Given the description of an element on the screen output the (x, y) to click on. 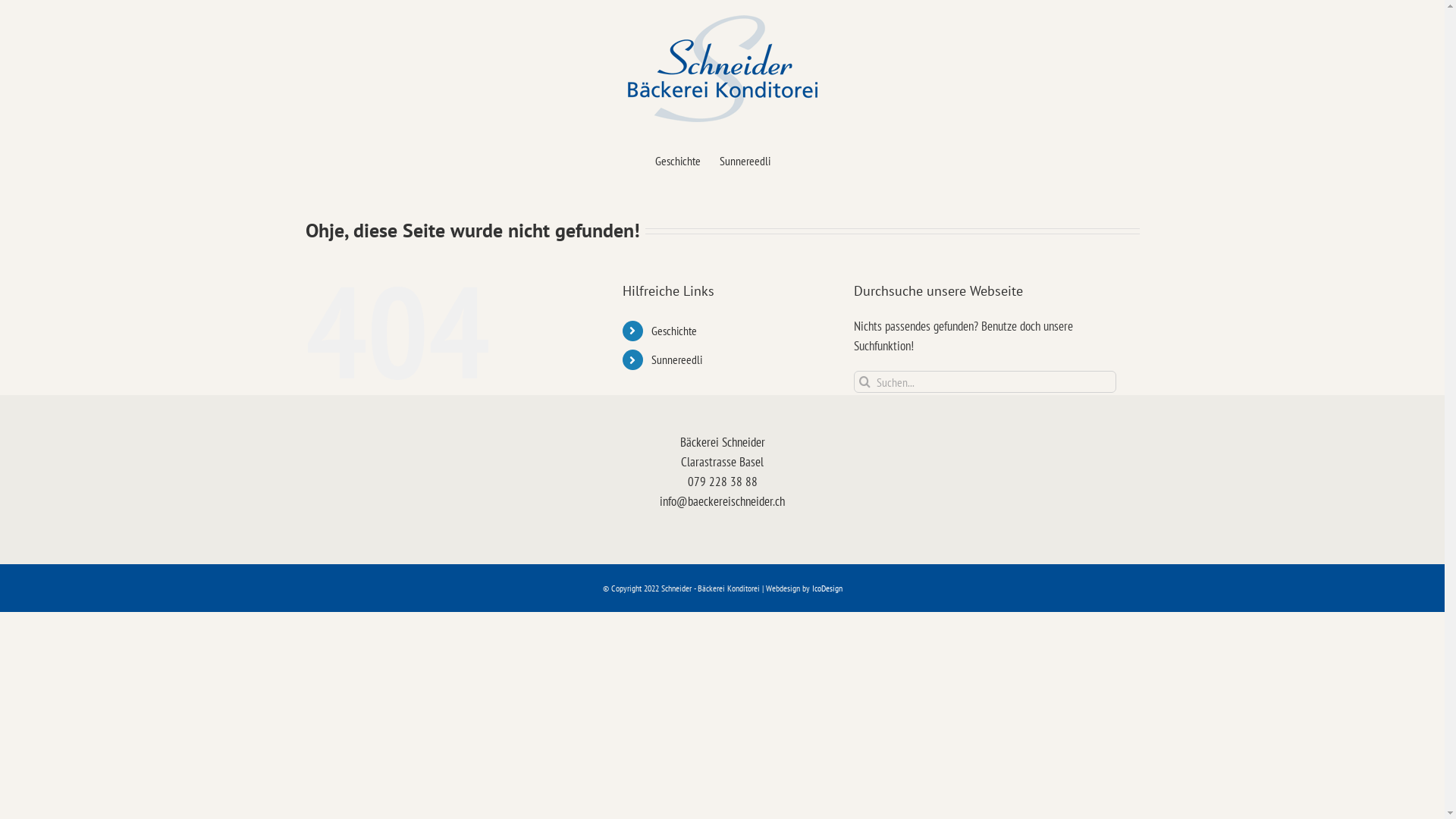
Sunnereedli Element type: text (676, 359)
Sunnereedli Element type: text (744, 160)
Geschichte Element type: text (677, 160)
IcoDesign Element type: text (826, 587)
Geschichte Element type: text (673, 330)
